Given the description of an element on the screen output the (x, y) to click on. 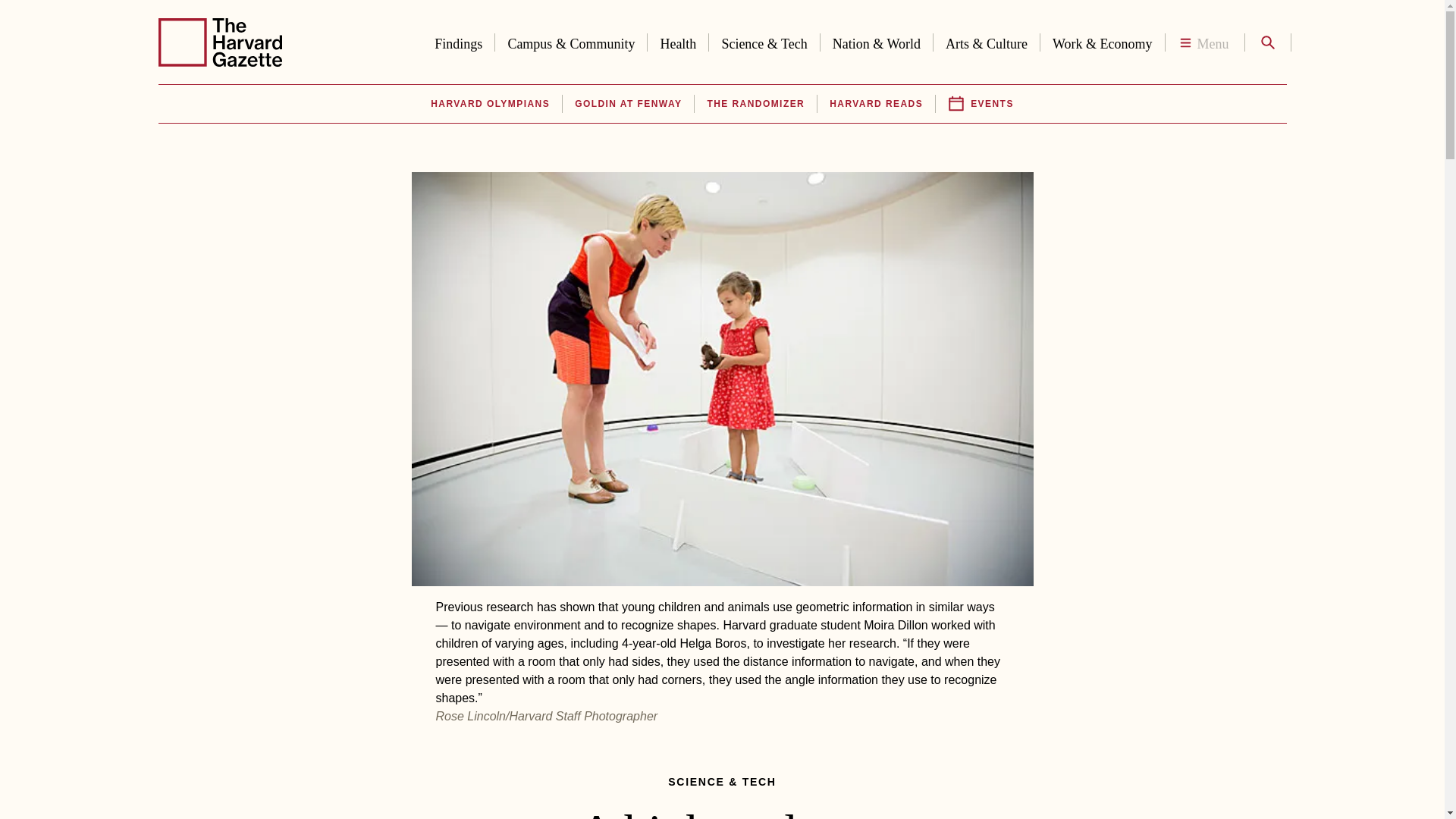
Findings (457, 41)
Health (677, 41)
HARVARD OLYMPIANS (490, 103)
GOLDIN AT FENWAY (627, 103)
Menu (1204, 42)
